Given the description of an element on the screen output the (x, y) to click on. 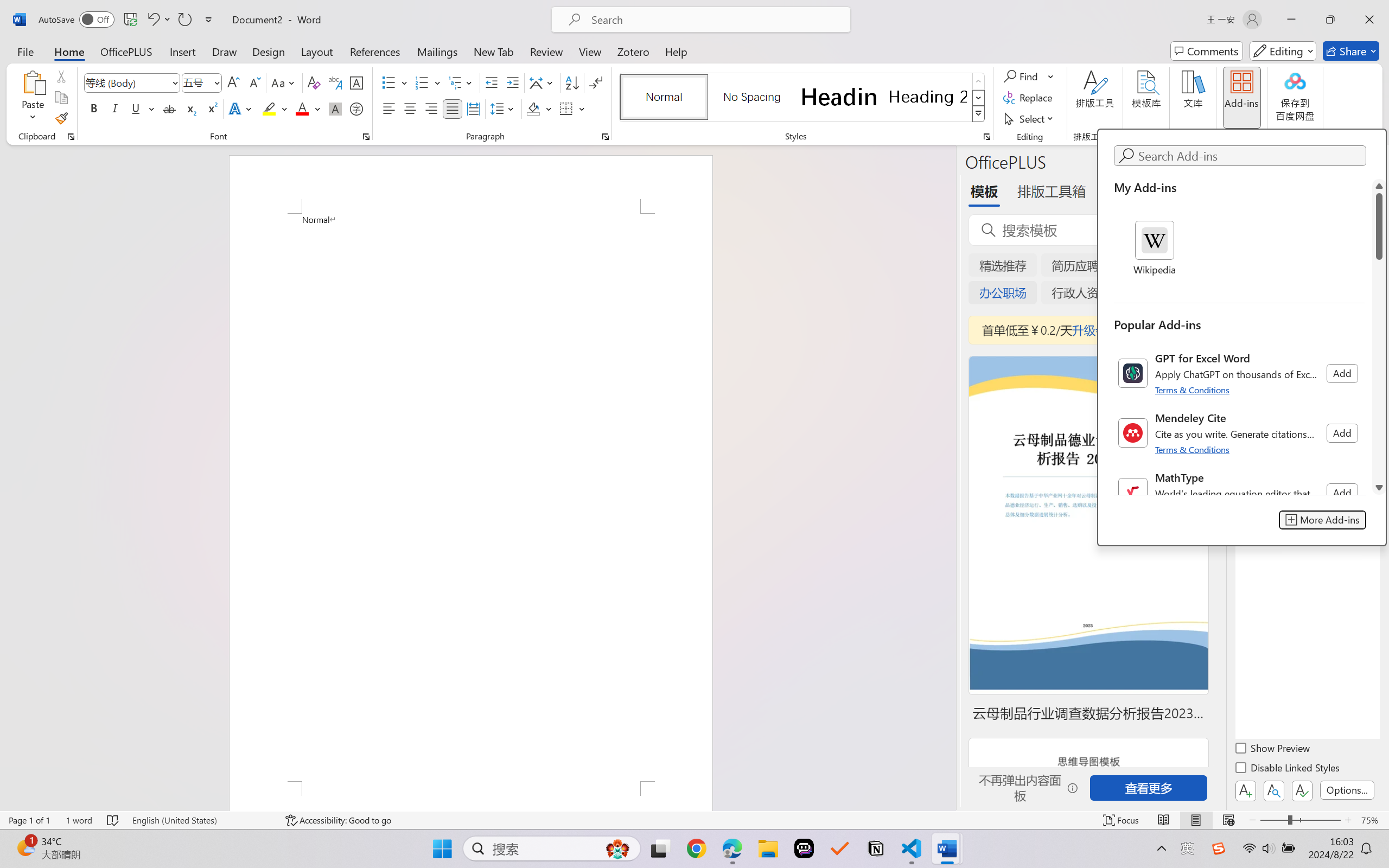
Comments (1206, 50)
Heading 1 (839, 96)
Page Number Page 1 of 1 (29, 819)
AutomationID: QuickStylesGallery (802, 97)
Font (132, 82)
Wikipedia (1154, 248)
Print Layout (1196, 819)
AutomationID: DynamicSearchBoxGleamImage (617, 848)
Class: Image (1218, 847)
Repeat Doc Close (184, 19)
View (589, 51)
Character Border (356, 82)
Align Right (431, 108)
